Given the description of an element on the screen output the (x, y) to click on. 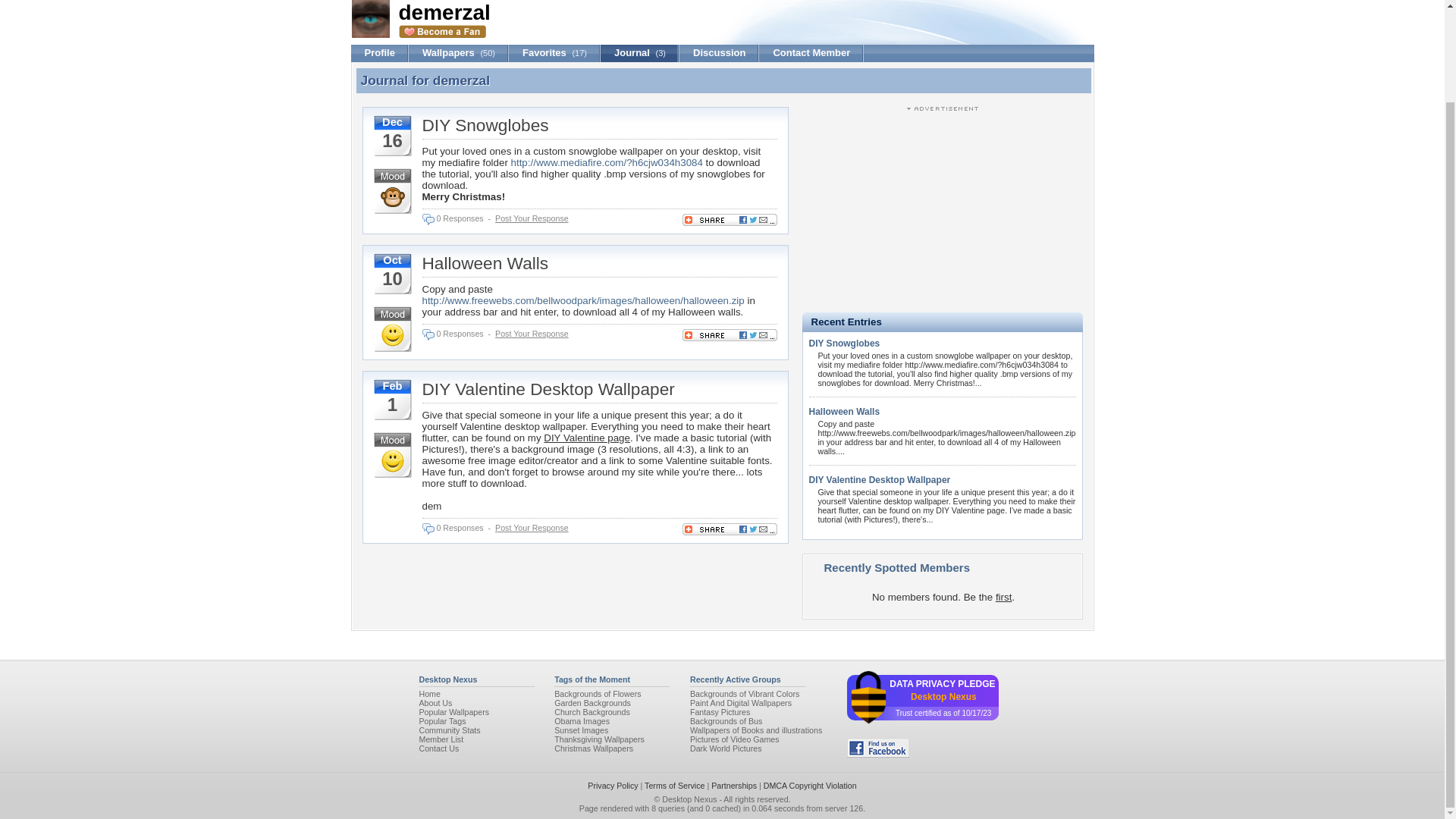
Contact Member (810, 53)
Halloween Walls (485, 262)
DIY Snowglobes (485, 125)
Desktop Nexus Wallpapers (429, 693)
mediafire folder (473, 162)
About Us (435, 702)
Discussion (718, 53)
0 Responses (459, 217)
Post Your Response (532, 217)
Profile (378, 53)
demerzal (460, 79)
Advertisement (941, 208)
